Given the description of an element on the screen output the (x, y) to click on. 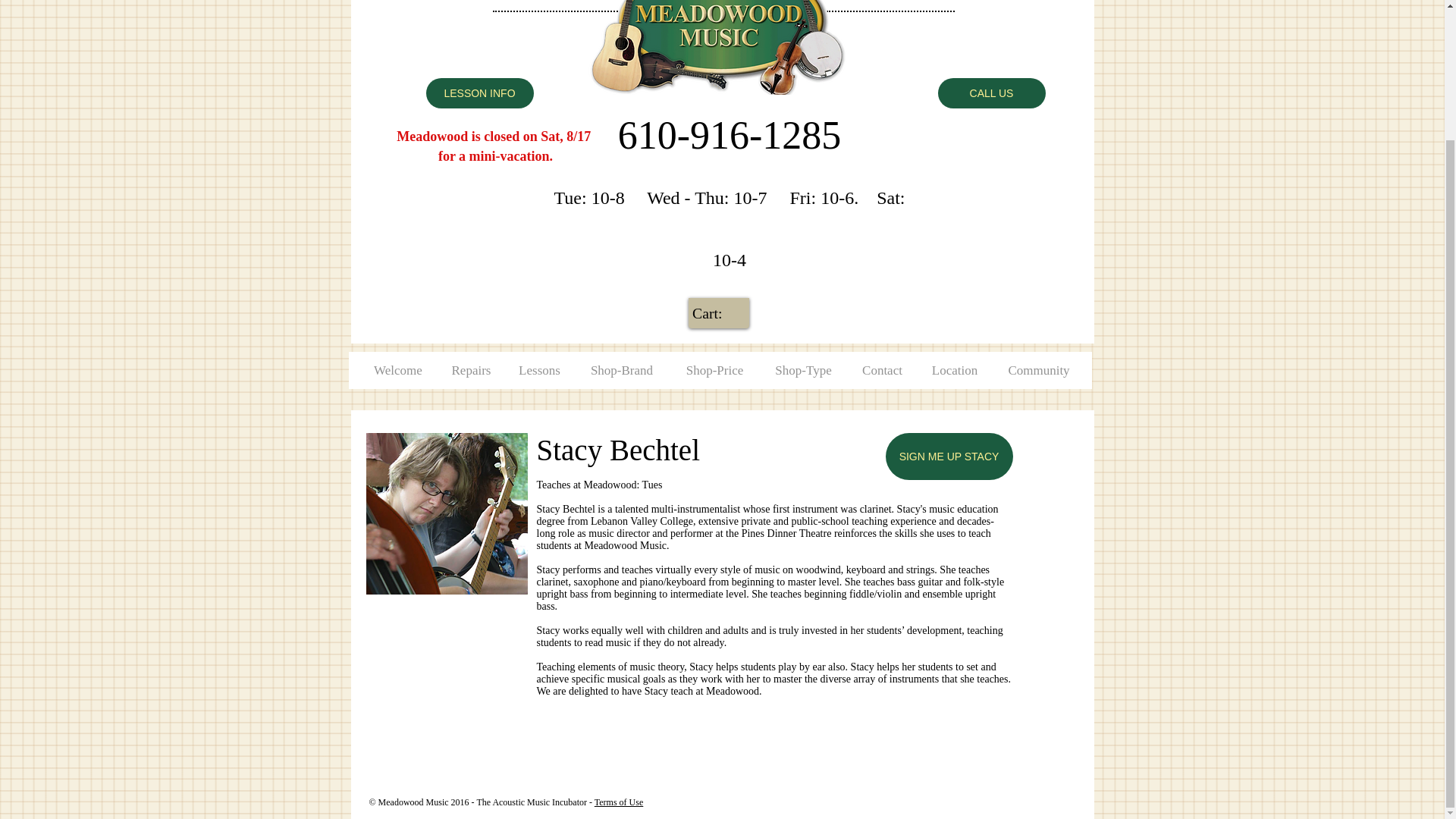
Shop-Type (803, 370)
Welcome (398, 370)
Terms of Use (618, 801)
Shop-Brand (621, 370)
LESSON INFO (480, 92)
Shop-Price (714, 370)
Repairs (470, 370)
Contact (882, 370)
CALL US (991, 92)
stacybanjo.jpg (446, 513)
